Given the description of an element on the screen output the (x, y) to click on. 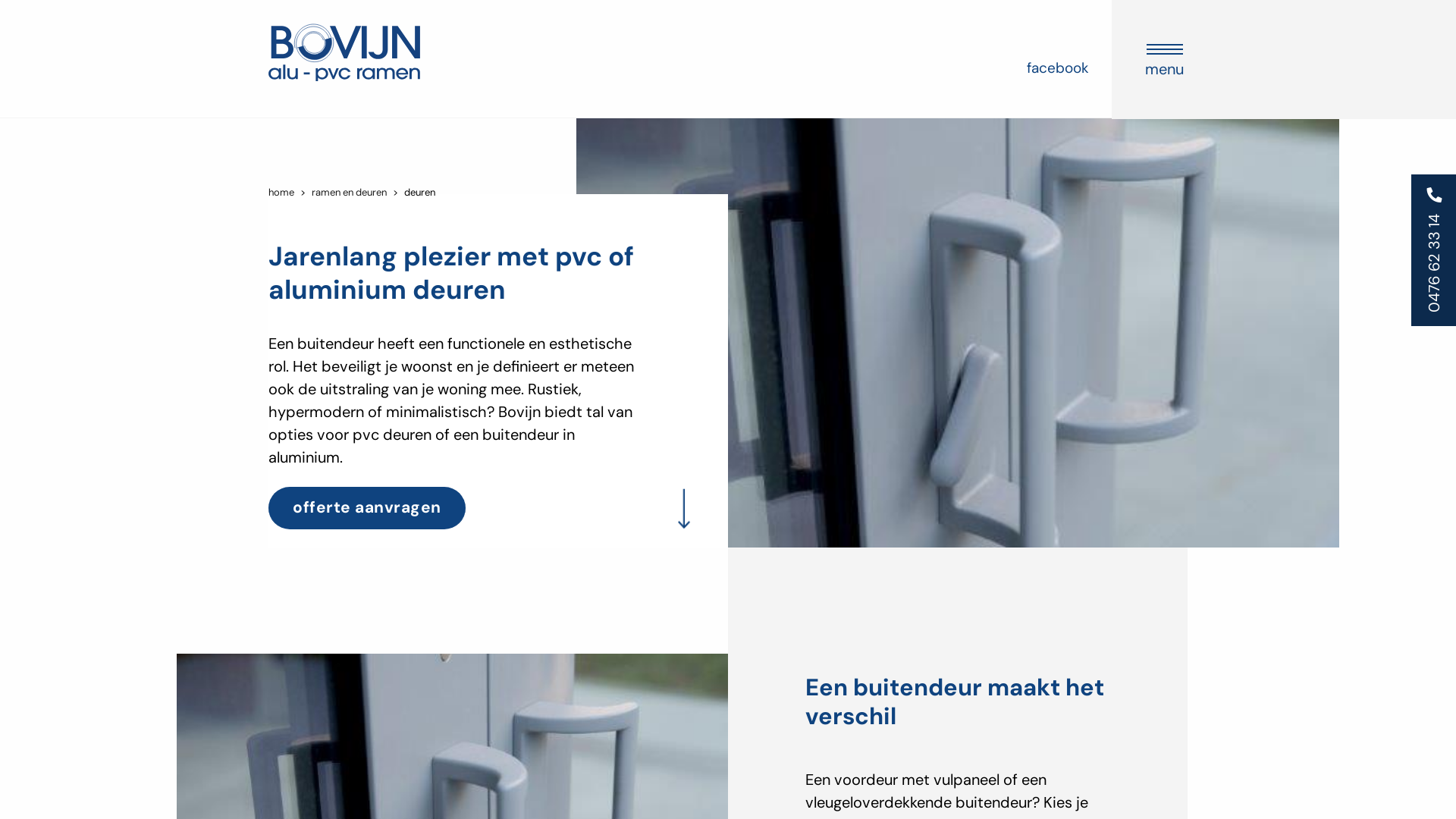
offerte aanvragen Element type: text (366, 507)
home Element type: text (281, 191)
ramen en deuren Element type: text (348, 191)
Bovijn pvc ramen Element type: hover (344, 50)
Previous Element type: text (595, 528)
Next Element type: text (635, 528)
facebook Element type: text (1057, 68)
